Given the description of an element on the screen output the (x, y) to click on. 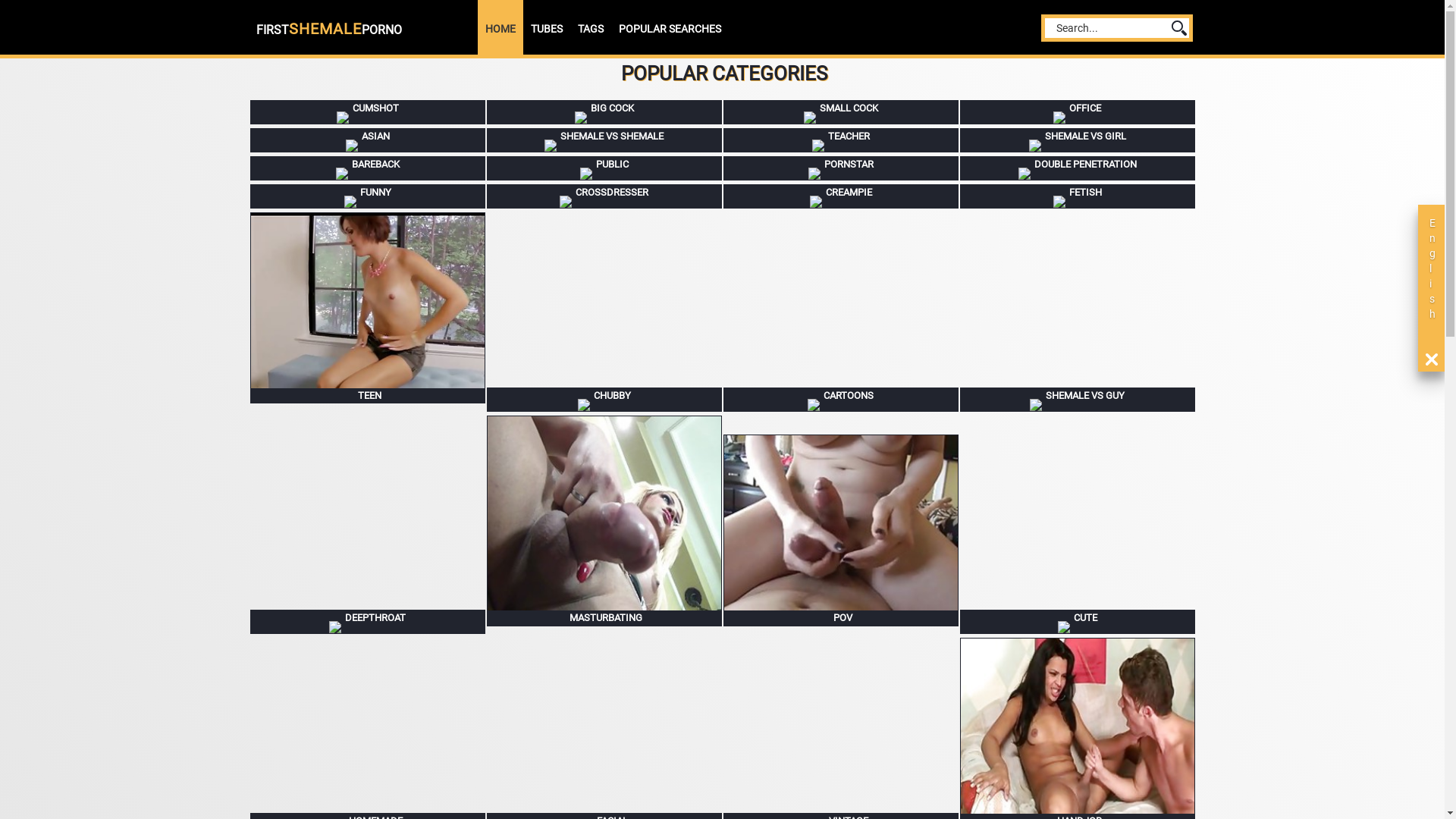
DOUBLE PENETRATION Element type: text (1077, 168)
OFFICE Element type: text (1077, 112)
CHUBBY Element type: text (603, 399)
MASTURBATING Element type: text (603, 520)
FETISH Element type: text (1077, 196)
SMALL COCK Element type: text (840, 112)
FUNNY Element type: text (367, 196)
DEEPTHROAT Element type: text (367, 621)
CREAMPIE Element type: text (840, 196)
POPULAR SEARCHES Element type: text (669, 29)
CUMSHOT Element type: text (367, 112)
SHEMALE VS GIRL Element type: text (1077, 140)
HOME Element type: text (500, 29)
PORNSTAR Element type: text (840, 168)
CARTOONS Element type: text (840, 399)
TAGS Element type: text (590, 29)
CUTE Element type: text (1077, 621)
FIRSTSHEMALEPORNO Element type: text (328, 29)
TEACHER Element type: text (840, 140)
TUBES Element type: text (546, 29)
SHEMALE VS SHEMALE Element type: text (603, 140)
PUBLIC Element type: text (603, 168)
ASIAN Element type: text (367, 140)
POV Element type: text (840, 530)
TEEN Element type: text (367, 308)
SHEMALE VS GUY Element type: text (1077, 399)
BAREBACK Element type: text (367, 168)
CROSSDRESSER Element type: text (603, 196)
BIG COCK Element type: text (603, 112)
